Given the description of an element on the screen output the (x, y) to click on. 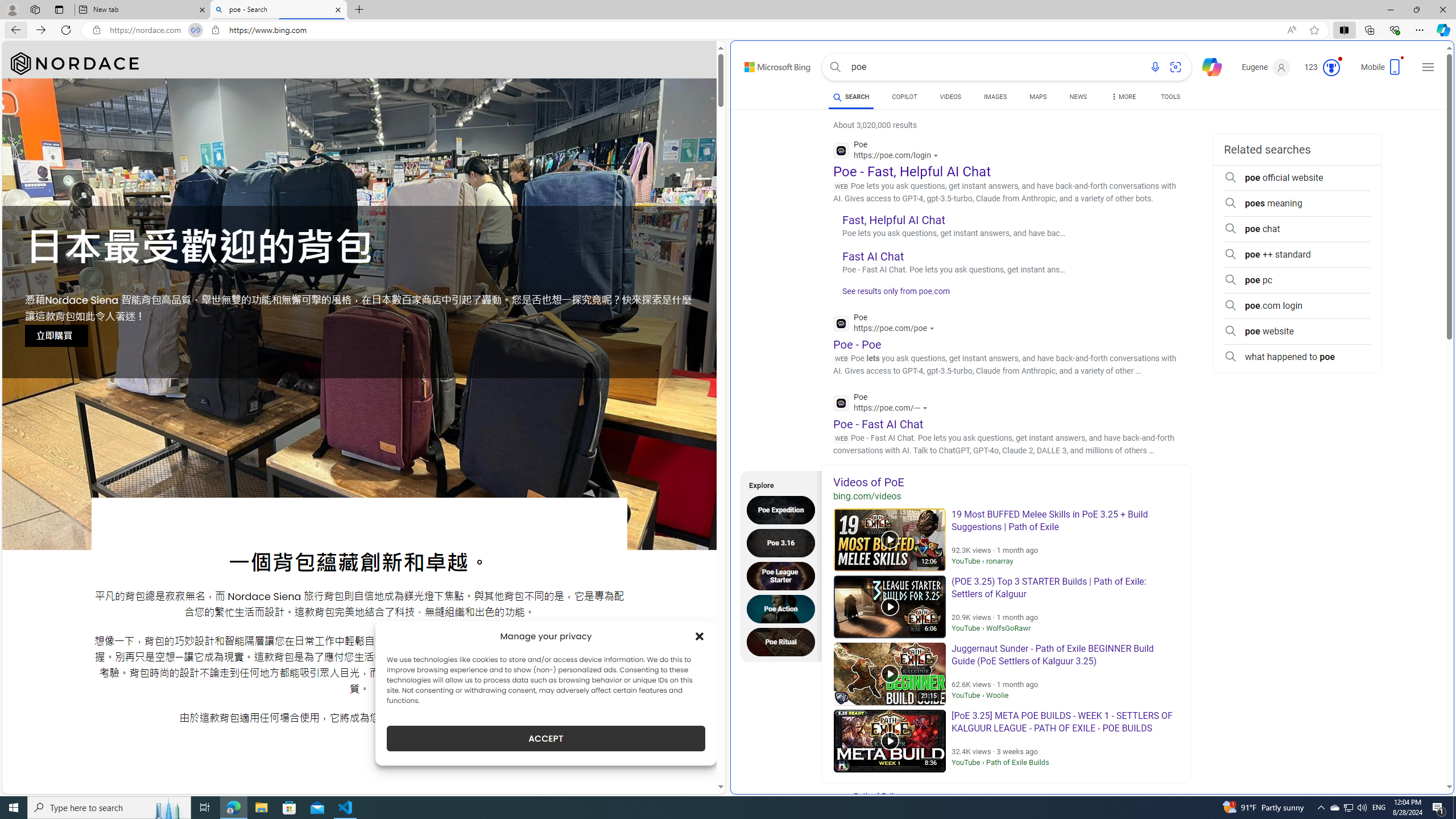
Search button (835, 66)
AutomationID: mfa_root (1406, 752)
poe.com login (1297, 305)
Tabs in split screen (194, 29)
poe official website (1297, 177)
SEARCH (850, 96)
